Given the description of an element on the screen output the (x, y) to click on. 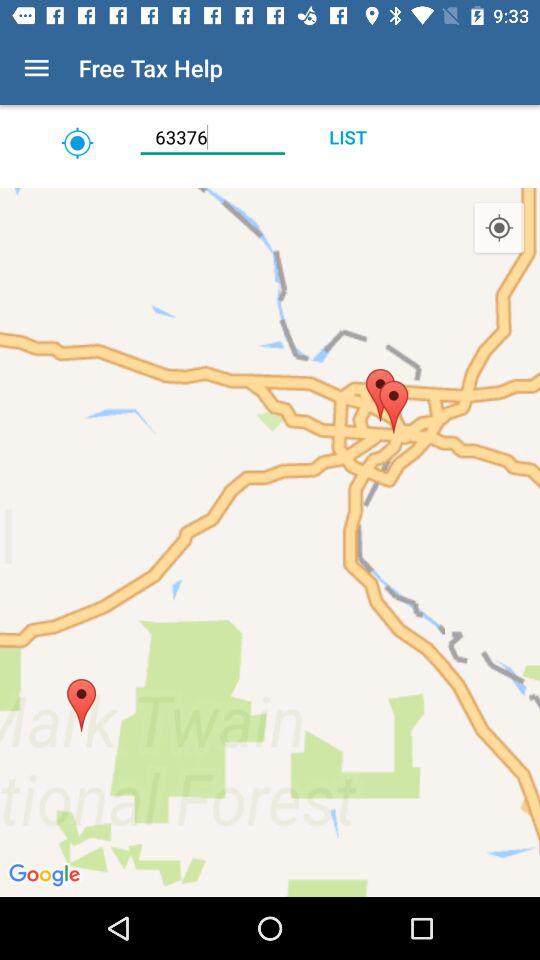
jump until list (347, 137)
